Given the description of an element on the screen output the (x, y) to click on. 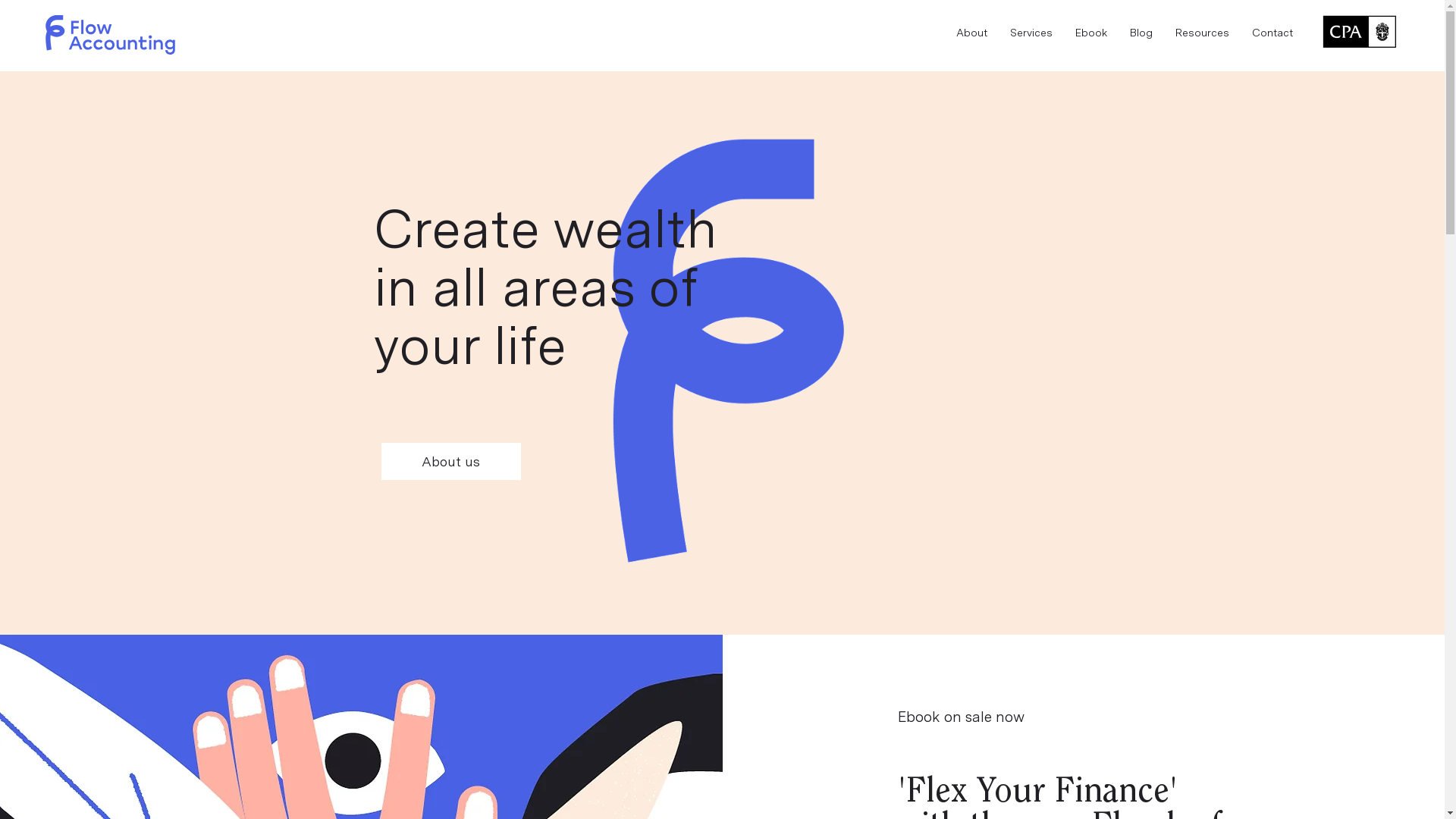
Services Element type: text (1030, 32)
Contact Element type: text (1272, 32)
About us Element type: text (450, 461)
Ebook Element type: text (1090, 32)
Blog Element type: text (1141, 32)
Resources Element type: text (1202, 32)
About Element type: text (971, 32)
